Given the description of an element on the screen output the (x, y) to click on. 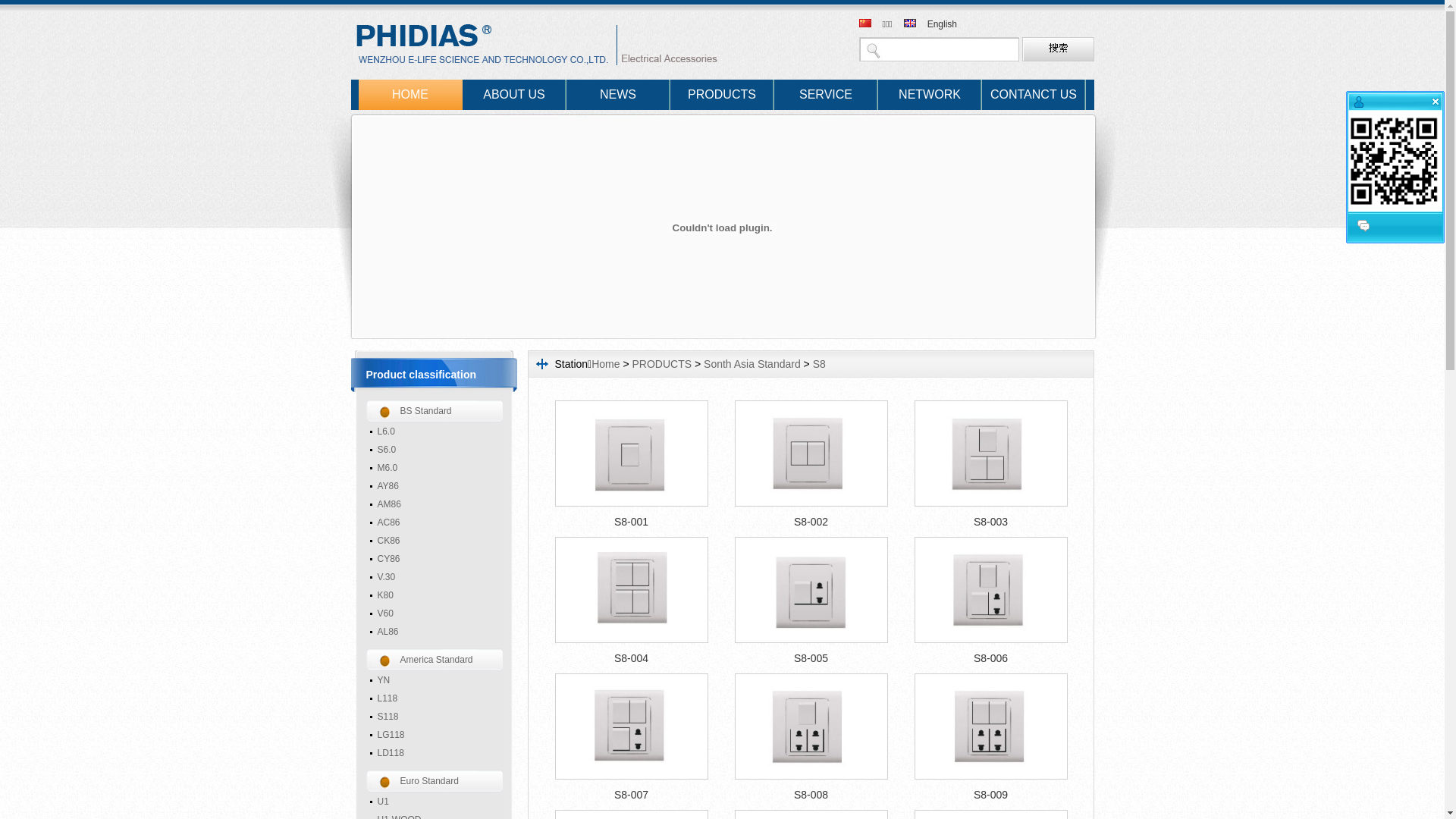
M6.0 Element type: text (435, 467)
NEWS Element type: text (617, 94)
S8-007 Element type: text (631, 794)
AC86 Element type: text (435, 522)
S8-003 Element type: text (990, 521)
CK86 Element type: text (435, 540)
AY86 Element type: text (435, 485)
NETWORK Element type: text (930, 94)
English Element type: text (942, 23)
SERVICE Element type: text (825, 94)
S8-005 Element type: text (810, 658)
U1 Element type: text (435, 801)
CY86 Element type: text (435, 558)
PRODUCTS Element type: text (722, 94)
S8 Element type: text (818, 363)
BS Standard Element type: text (433, 410)
S8-008 Element type: text (810, 794)
L118 Element type: text (435, 698)
PRODUCTS Element type: text (662, 363)
LD118 Element type: text (435, 752)
America Standard Element type: text (433, 659)
AL86 Element type: text (435, 631)
S118 Element type: text (435, 716)
K80 Element type: text (435, 595)
YN Element type: text (435, 680)
S8-009 Element type: text (990, 794)
S8-002 Element type: text (810, 521)
Sonth Asia Standard Element type: text (751, 363)
S8-006 Element type: text (990, 658)
V60 Element type: text (435, 613)
AM86 Element type: text (435, 504)
L6.0 Element type: text (435, 431)
S8-001 Element type: text (631, 521)
ABOUT US Element type: text (514, 94)
Home Element type: text (605, 363)
LG118 Element type: text (435, 734)
Euro Standard Element type: text (433, 780)
CONTANCT US Element type: text (1033, 94)
S8-004 Element type: text (631, 658)
V.30 Element type: text (435, 576)
HOME Element type: text (409, 94)
S6.0 Element type: text (435, 449)
